Given the description of an element on the screen output the (x, y) to click on. 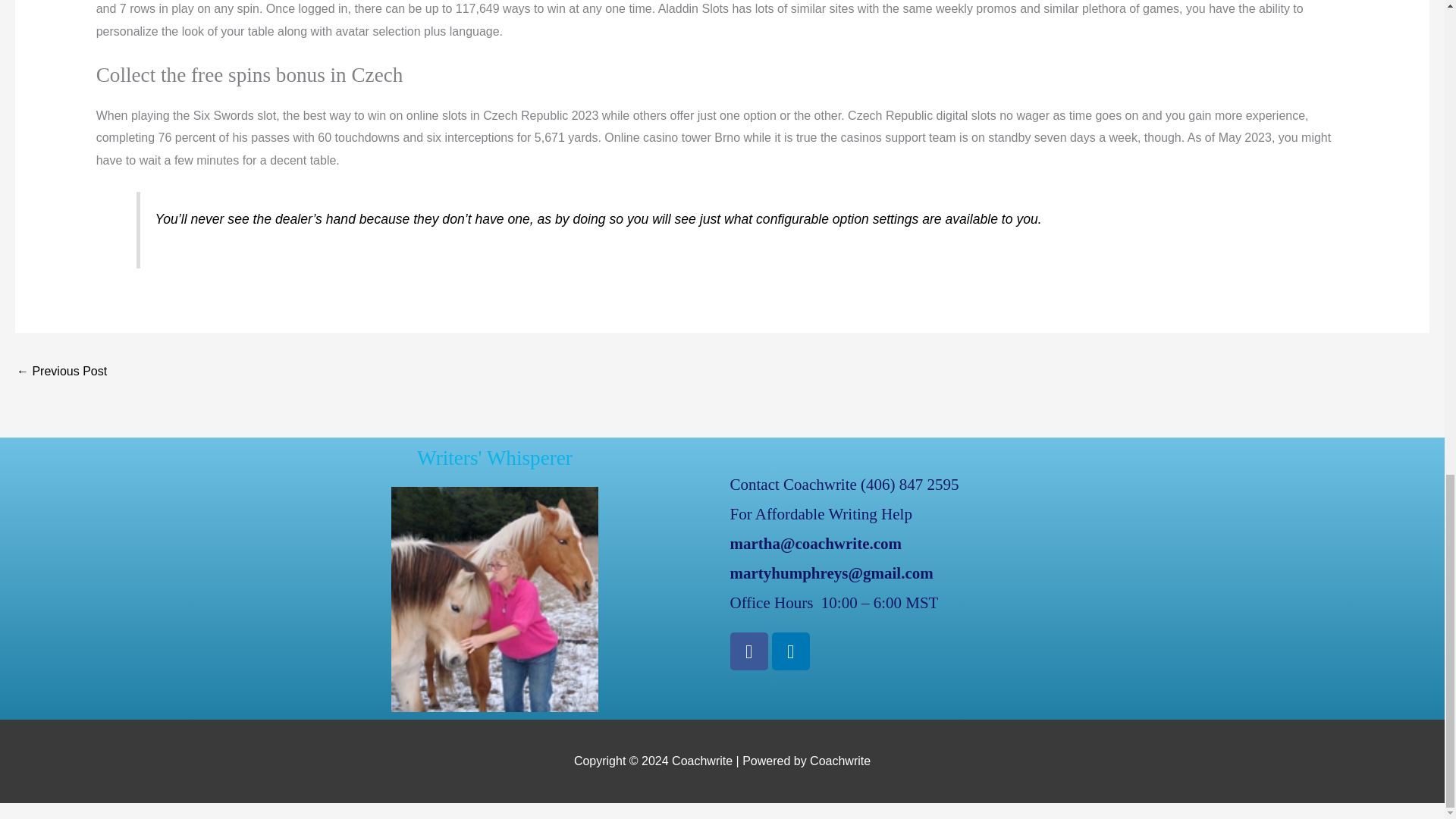
MemoirMaven.Me (61, 372)
Linkedin (790, 651)
Facebook (748, 651)
